Given the description of an element on the screen output the (x, y) to click on. 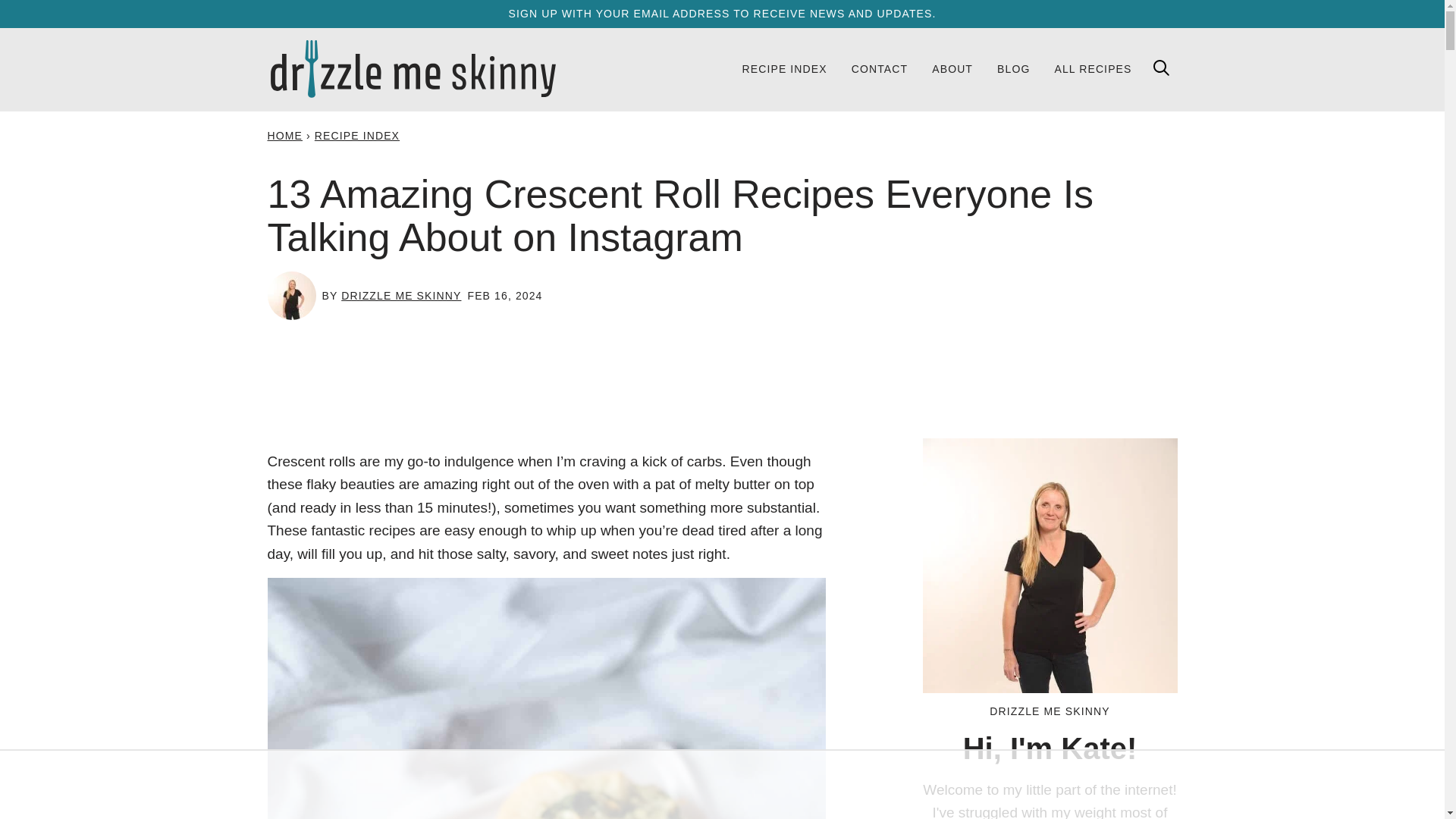
ABOUT (952, 68)
DRIZZLE ME SKINNY (400, 295)
SIGN UP WITH YOUR EMAIL ADDRESS TO RECEIVE NEWS AND UPDATES. (722, 13)
ALL RECIPES (1092, 68)
CONTACT (880, 68)
HOME (283, 135)
RECIPE INDEX (356, 135)
BLOG (1013, 68)
RECIPE INDEX (783, 68)
